Given the description of an element on the screen output the (x, y) to click on. 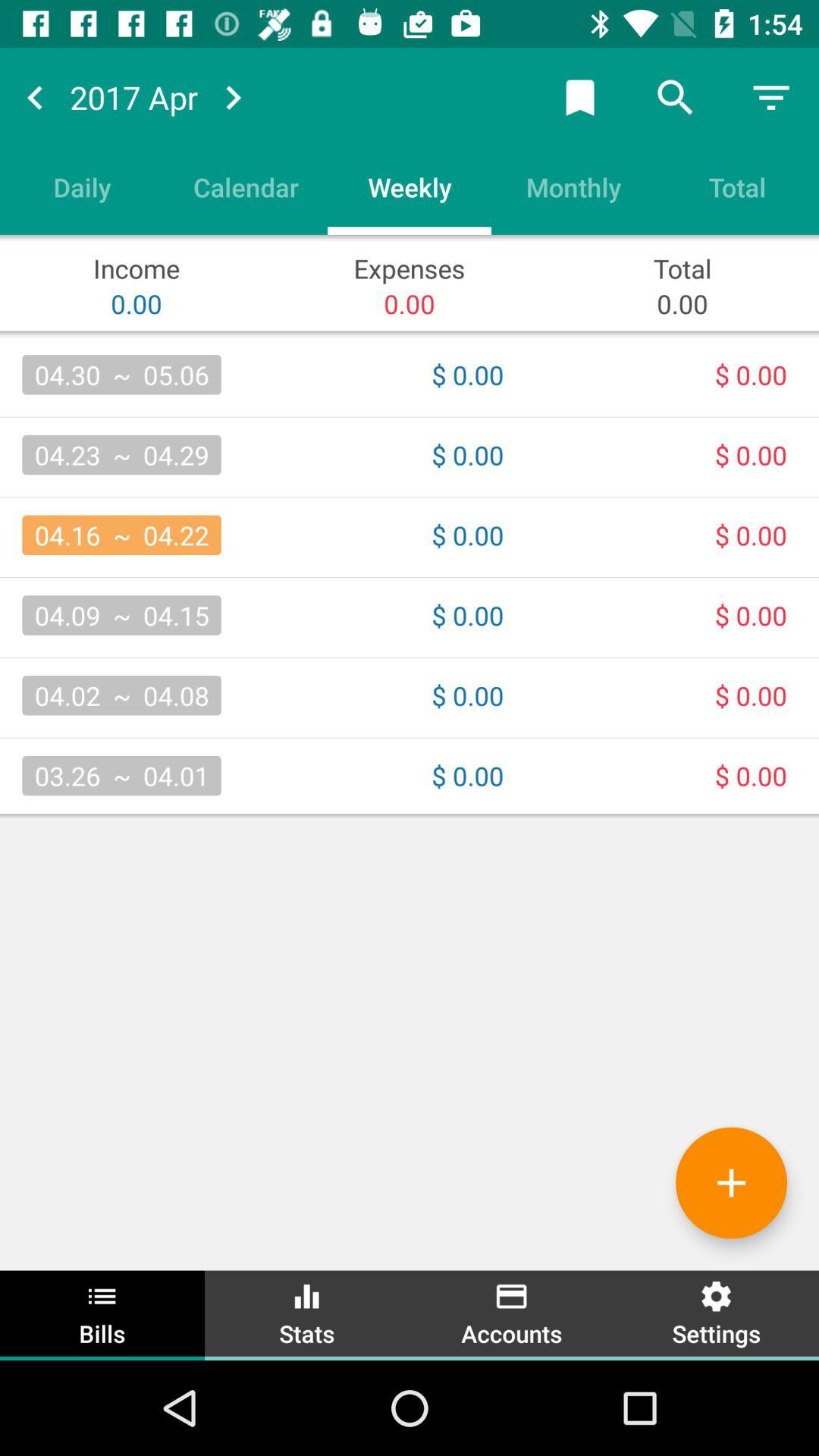
turn on the calendar icon (245, 186)
